Given the description of an element on the screen output the (x, y) to click on. 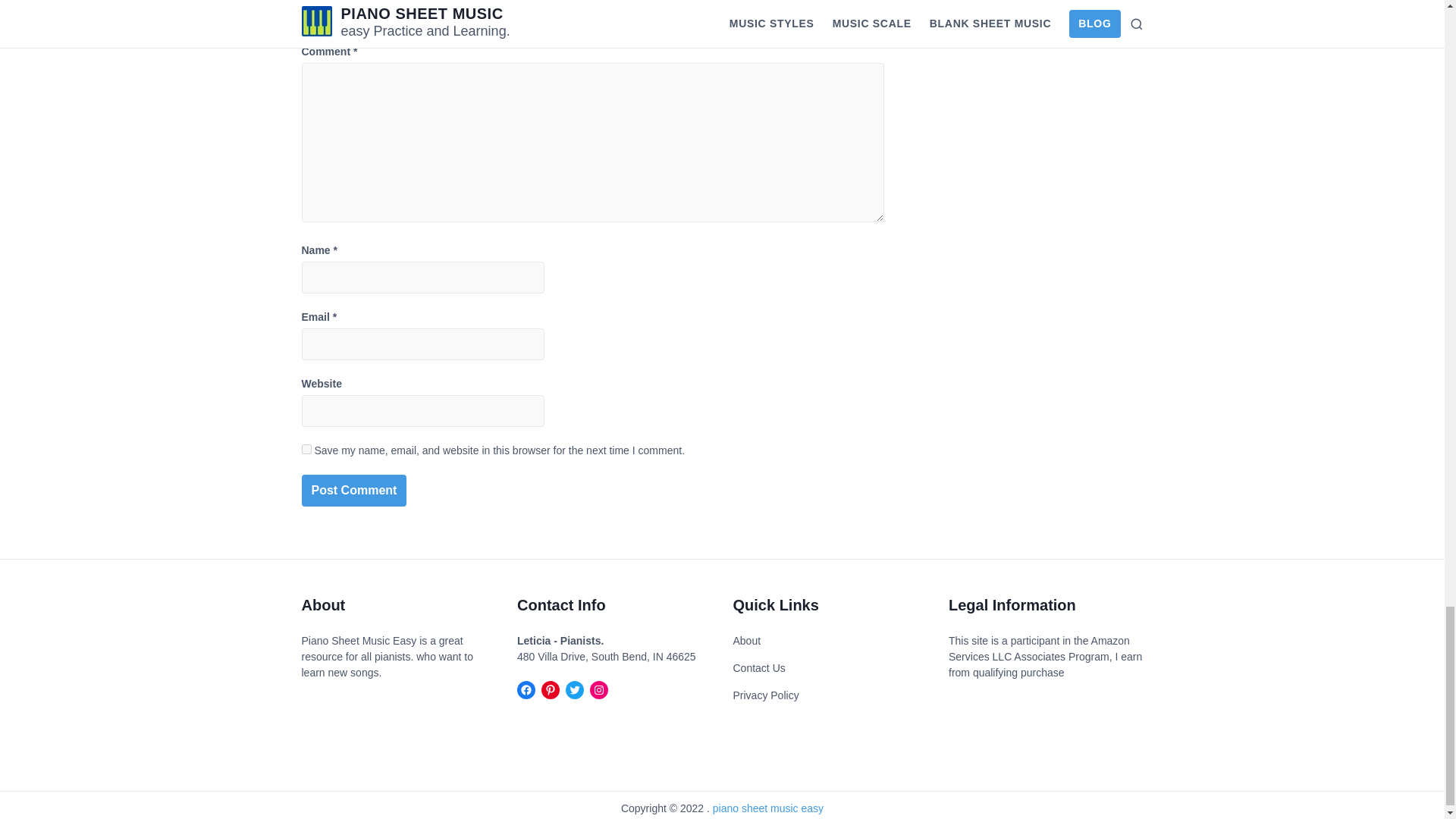
yes (306, 449)
Instagram (598, 689)
piano sheet music easy (768, 808)
Post Comment (354, 490)
Twitter (574, 689)
About (746, 641)
Post Comment (354, 490)
Facebook (525, 689)
DMCA.com Protection Status (347, 711)
Privacy Policy (764, 695)
Contact Us (758, 668)
Pinterest (550, 689)
